Given the description of an element on the screen output the (x, y) to click on. 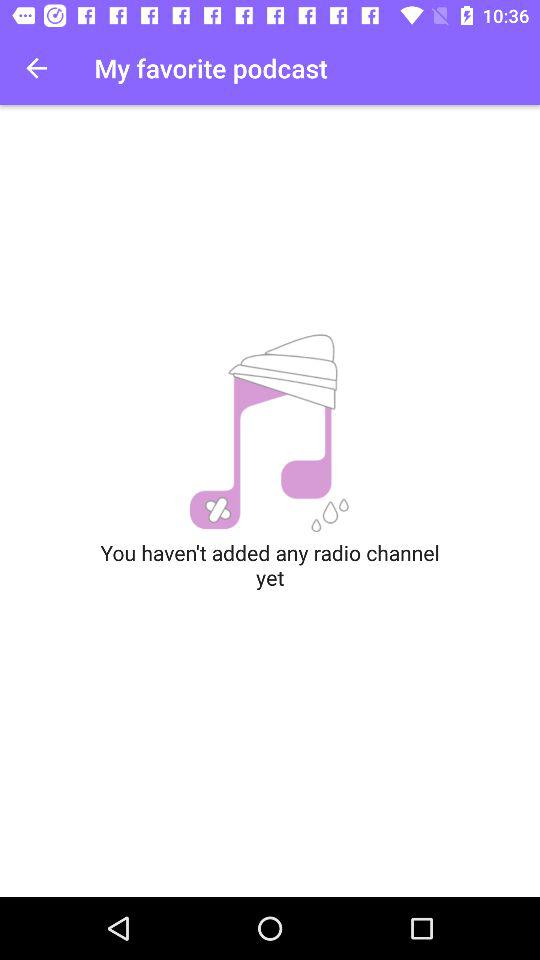
click the icon next to my favorite podcast icon (36, 68)
